Given the description of an element on the screen output the (x, y) to click on. 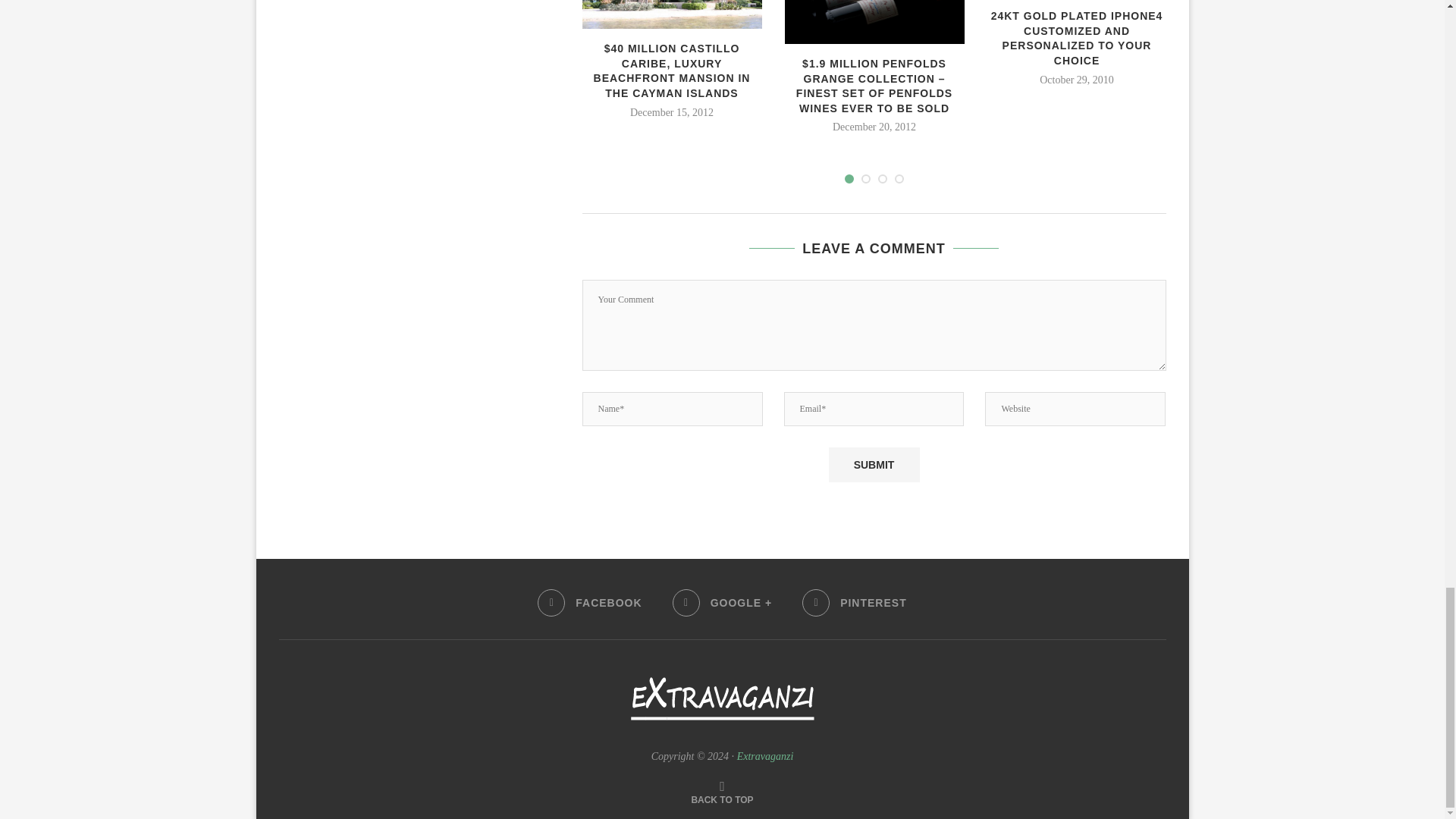
Submit (873, 464)
